Given the description of an element on the screen output the (x, y) to click on. 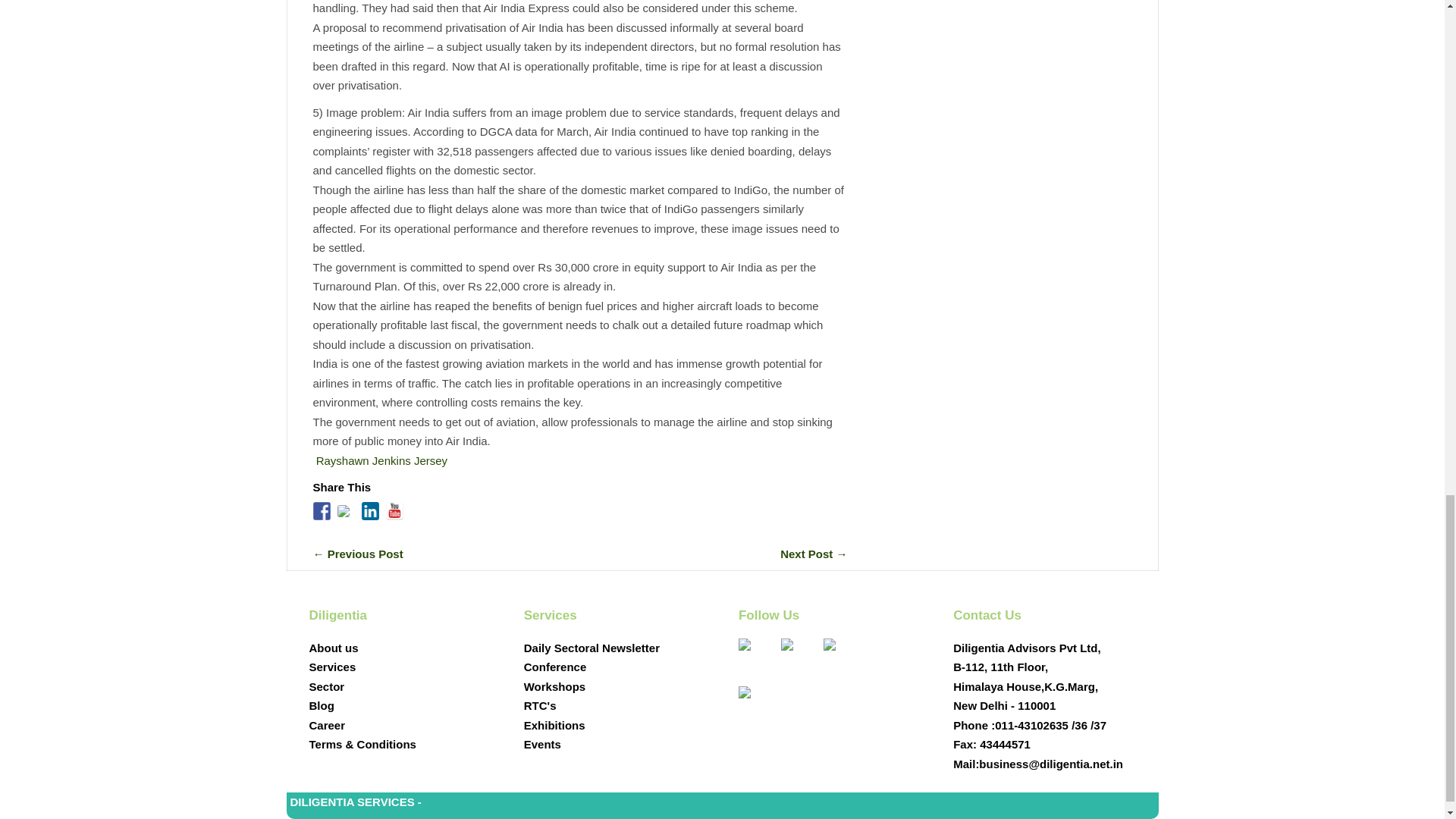
Find us on YouTube (394, 511)
Rayshawn Jenkins Jersey (380, 460)
Follow us on Facebook (321, 511)
Find us on Linkedin (842, 656)
Follow us on Twitter (798, 656)
Follow us on Twitter (342, 510)
Find us on YouTube (756, 704)
Follow us on Twitter (345, 514)
Follow us on Facebook (756, 656)
Find us on Linkedin (369, 511)
